Given the description of an element on the screen output the (x, y) to click on. 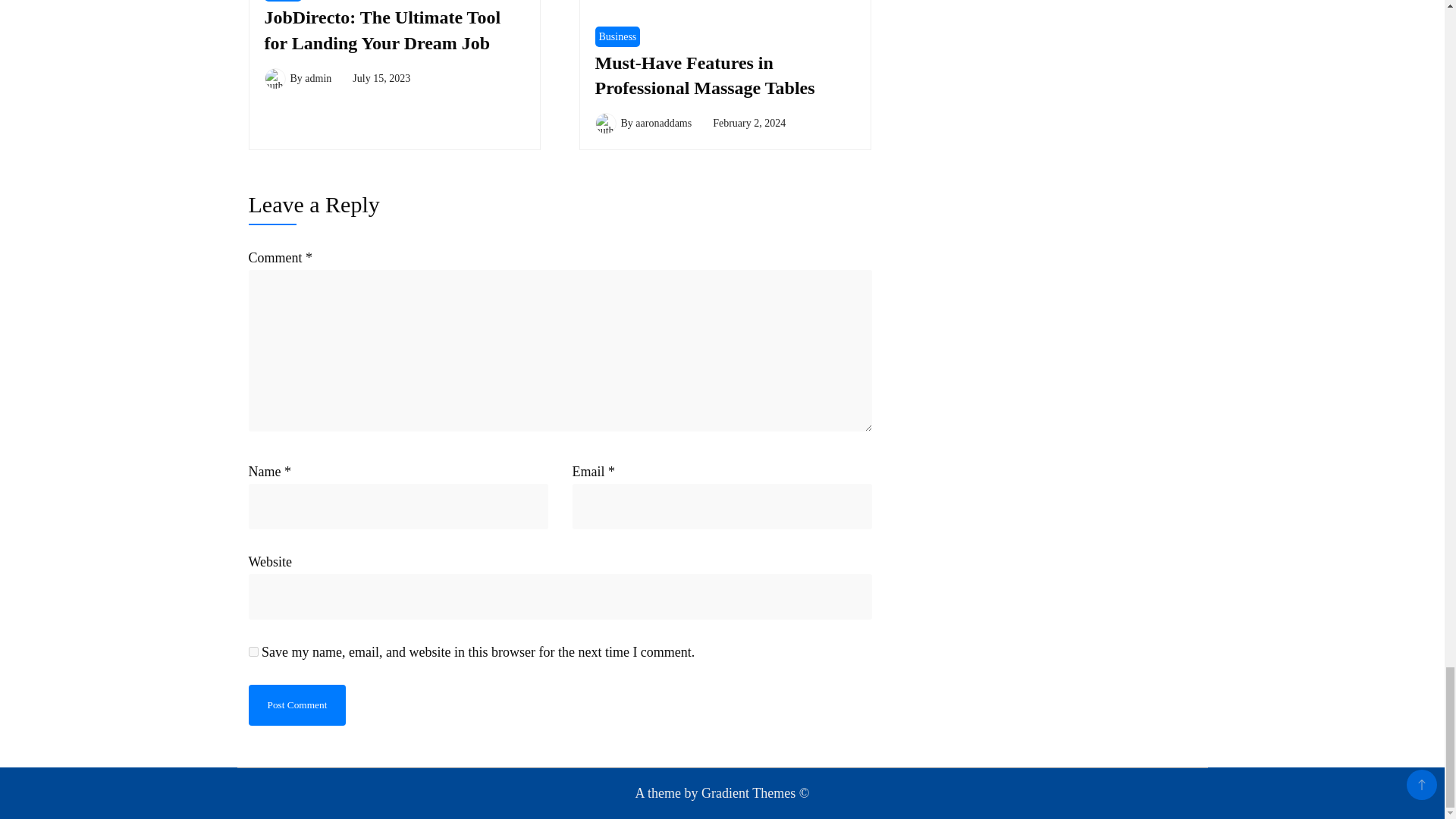
yes (253, 651)
Post Comment (297, 704)
